Given the description of an element on the screen output the (x, y) to click on. 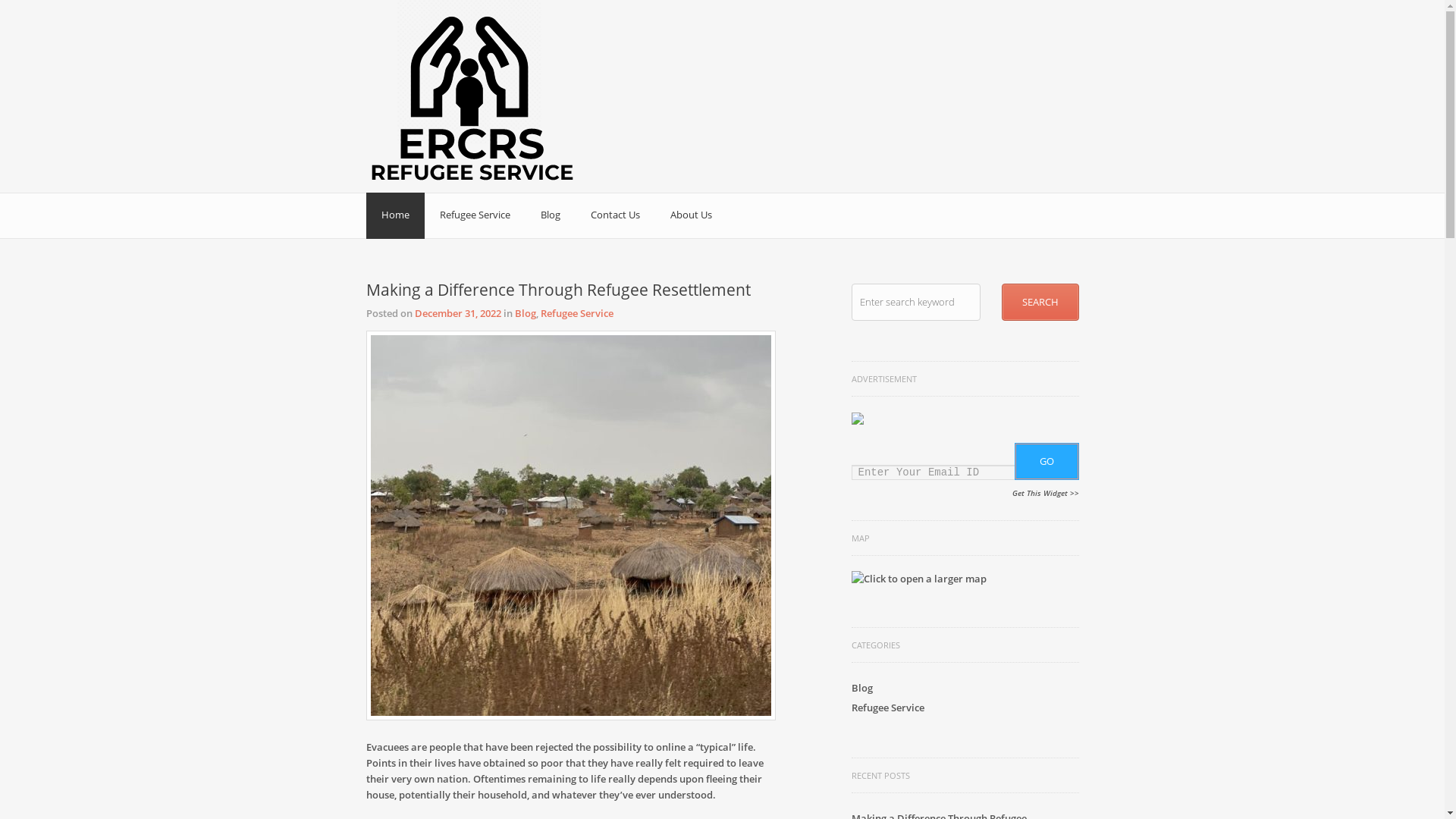
Home Element type: text (394, 215)
Click to open a larger map Element type: hover (917, 578)
ERCRS Element type: text (395, 37)
Contact Us Element type: text (614, 215)
Refugee Service Element type: text (886, 707)
GO Element type: text (1046, 461)
Get This Widget >> Element type: text (1044, 492)
About Us Element type: text (691, 215)
December 31, 2022 Element type: text (457, 313)
Refugee Service Element type: text (474, 215)
Making a Difference Through Refugee Resettlement Element type: text (557, 289)
Blog Element type: text (861, 687)
Blog Element type: text (524, 313)
Blog Element type: text (549, 215)
Search Element type: text (1039, 301)
Refugee Service Element type: text (575, 313)
